Given the description of an element on the screen output the (x, y) to click on. 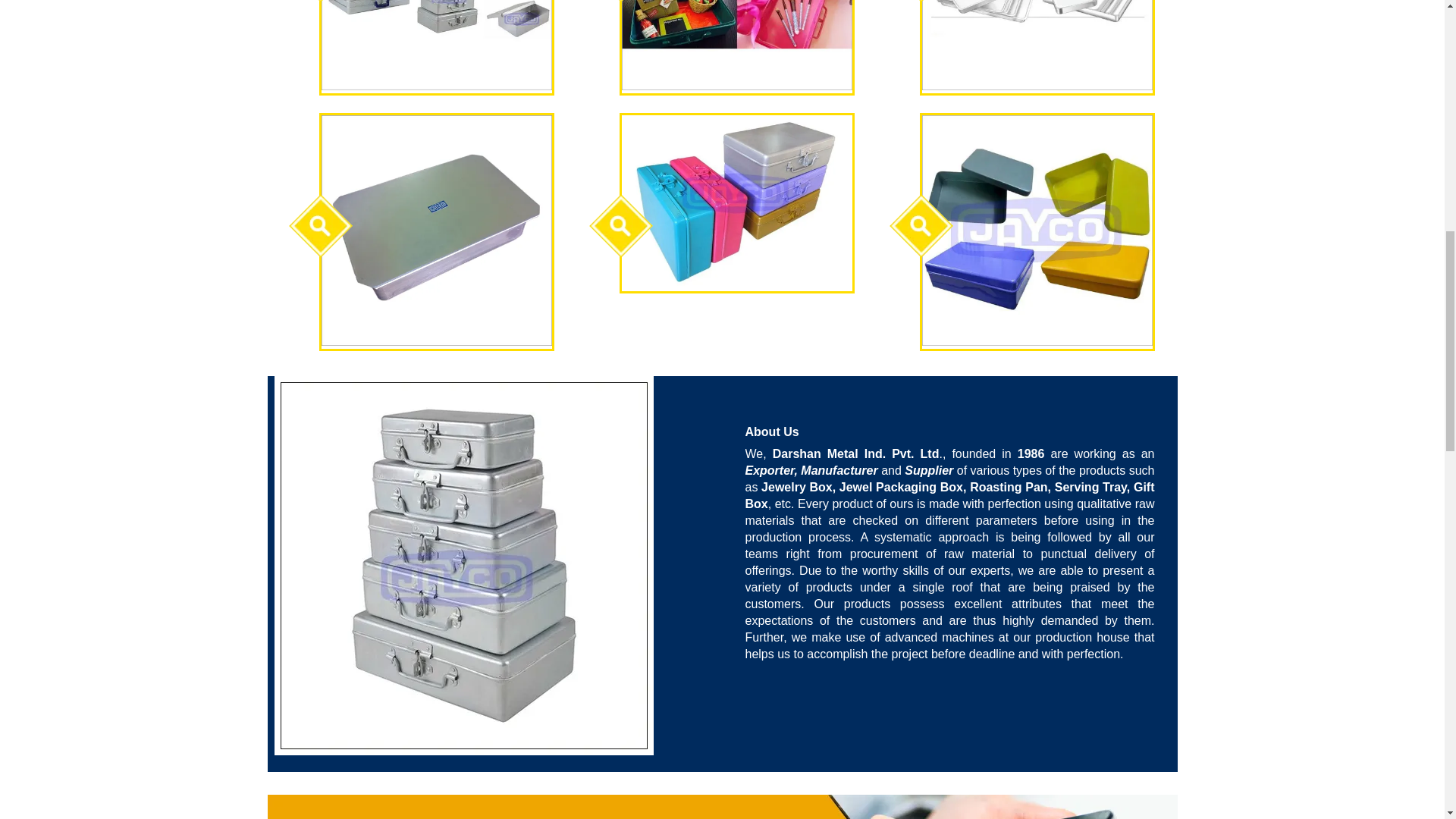
Aluminium Tray (1037, 45)
Tin Box (1037, 230)
Powder Coated Boxes (736, 201)
Aluminium Box (436, 45)
Sliding Cover Aluminium Box (436, 230)
Decorative Storage Box (736, 45)
